Given the description of an element on the screen output the (x, y) to click on. 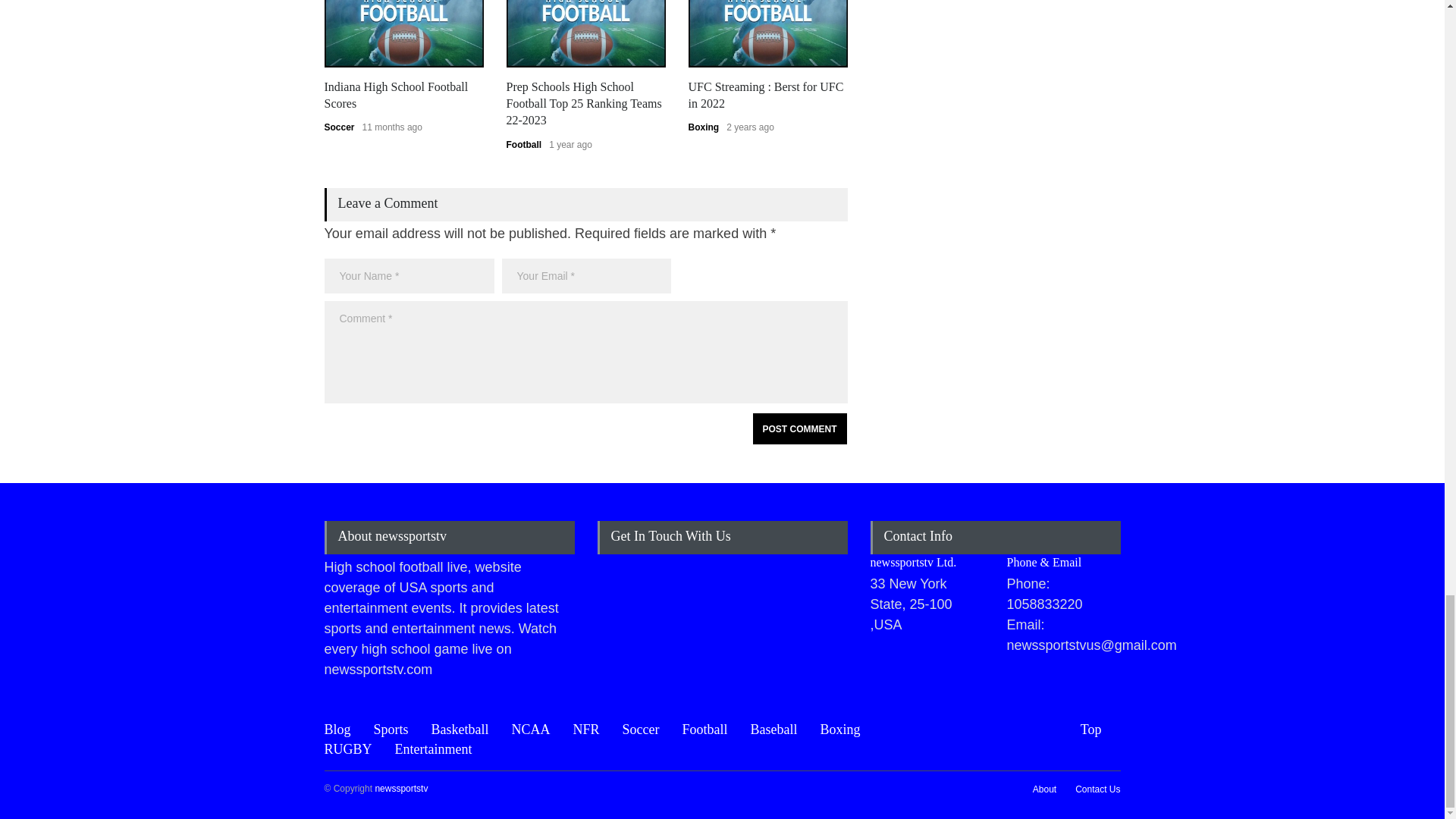
Top (1100, 729)
POST COMMENT (799, 428)
